Given the description of an element on the screen output the (x, y) to click on. 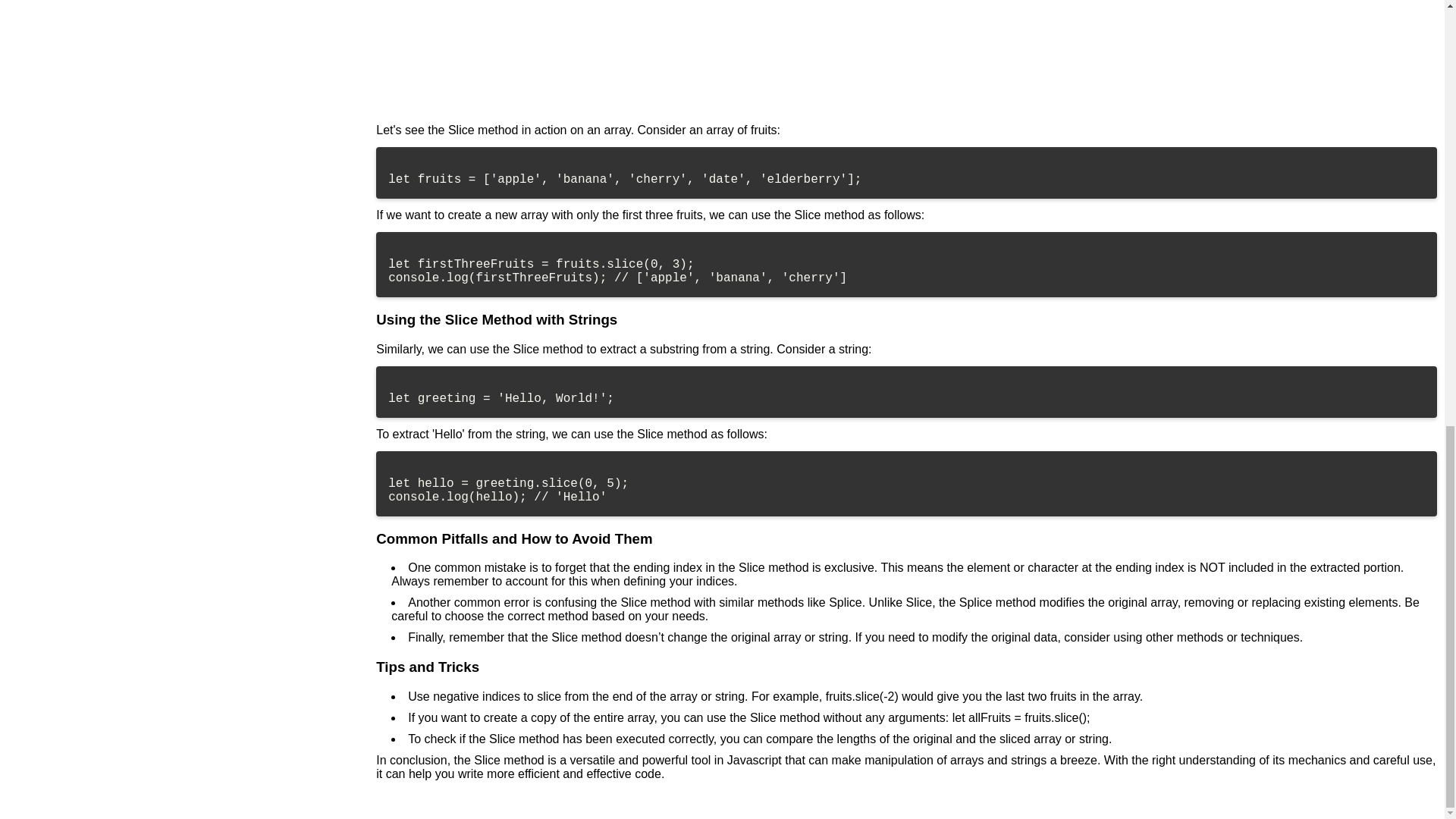
Spot Quiz (906, 53)
